Given the description of an element on the screen output the (x, y) to click on. 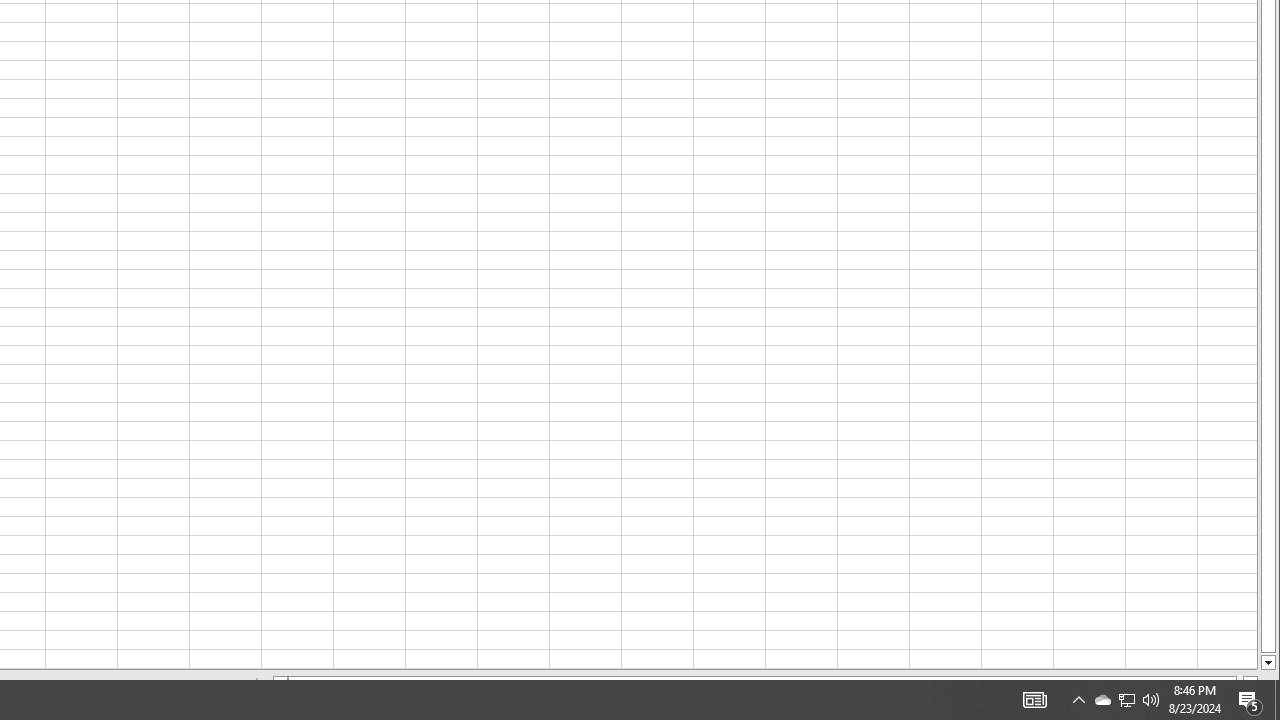
Column left (279, 683)
Zoom (1157, 708)
Zoom In (1215, 708)
Normal (987, 708)
Column right (1250, 683)
Page right (1239, 683)
Line down (1268, 663)
Page Break Preview (1068, 708)
Zoom Out (1130, 708)
Class: NetUIScrollBar (765, 683)
